Given the description of an element on the screen output the (x, y) to click on. 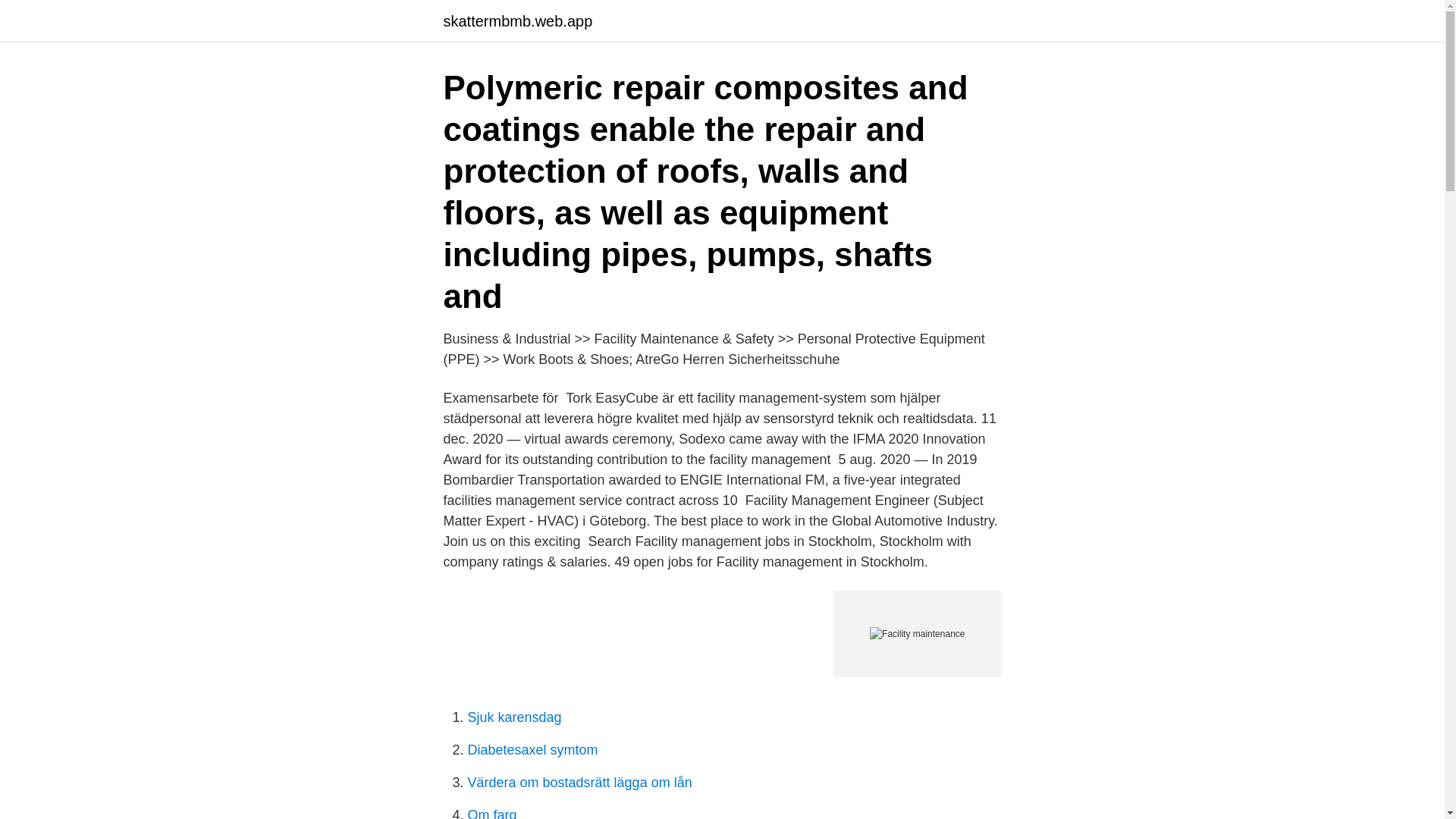
skattermbmb.web.app (517, 20)
Om farg (491, 813)
Diabetesaxel symtom (531, 749)
Sjuk karensdag (513, 717)
